Given the description of an element on the screen output the (x, y) to click on. 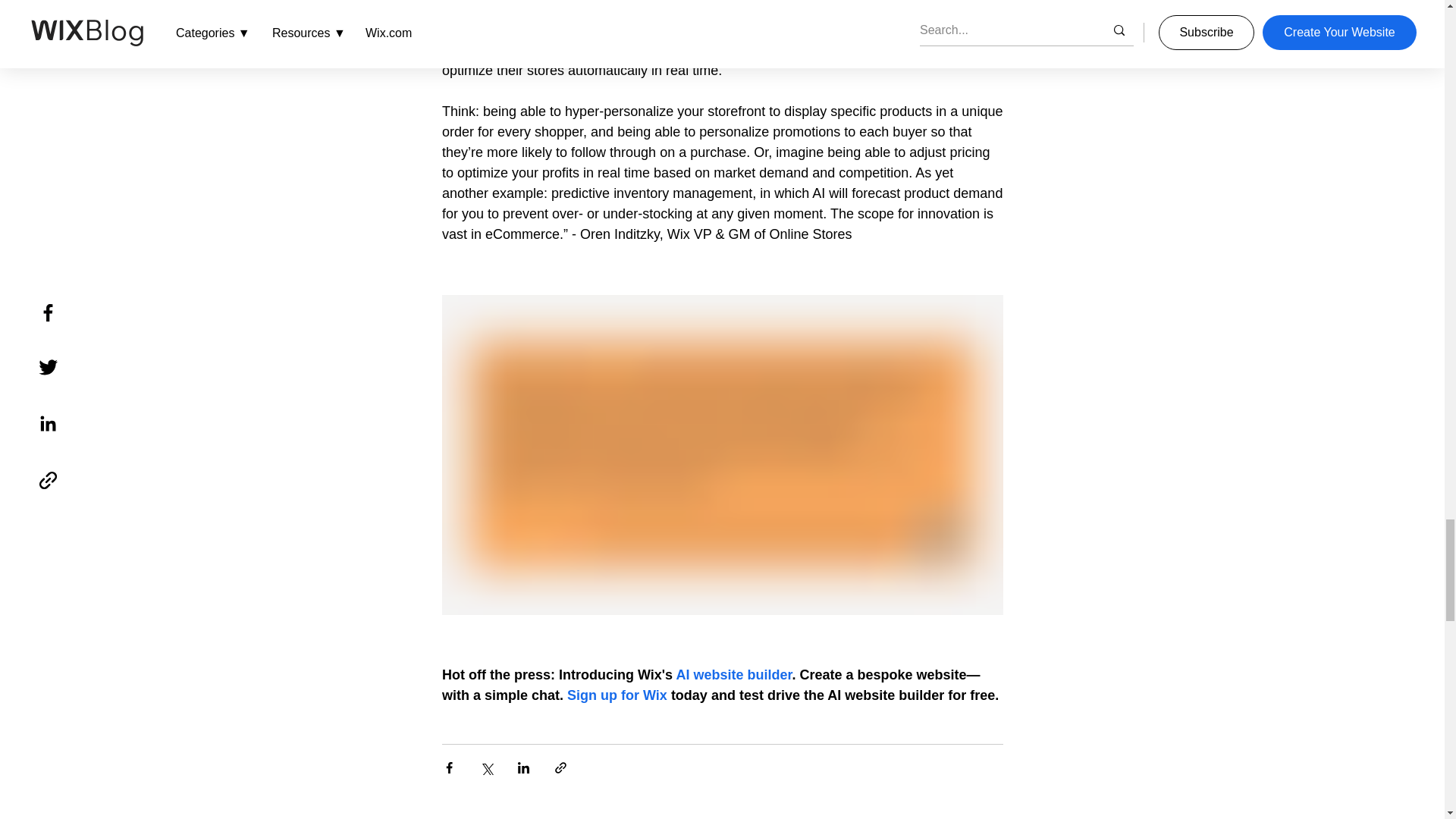
Sign up for Wix (616, 694)
AI website builder (733, 674)
